Given the description of an element on the screen output the (x, y) to click on. 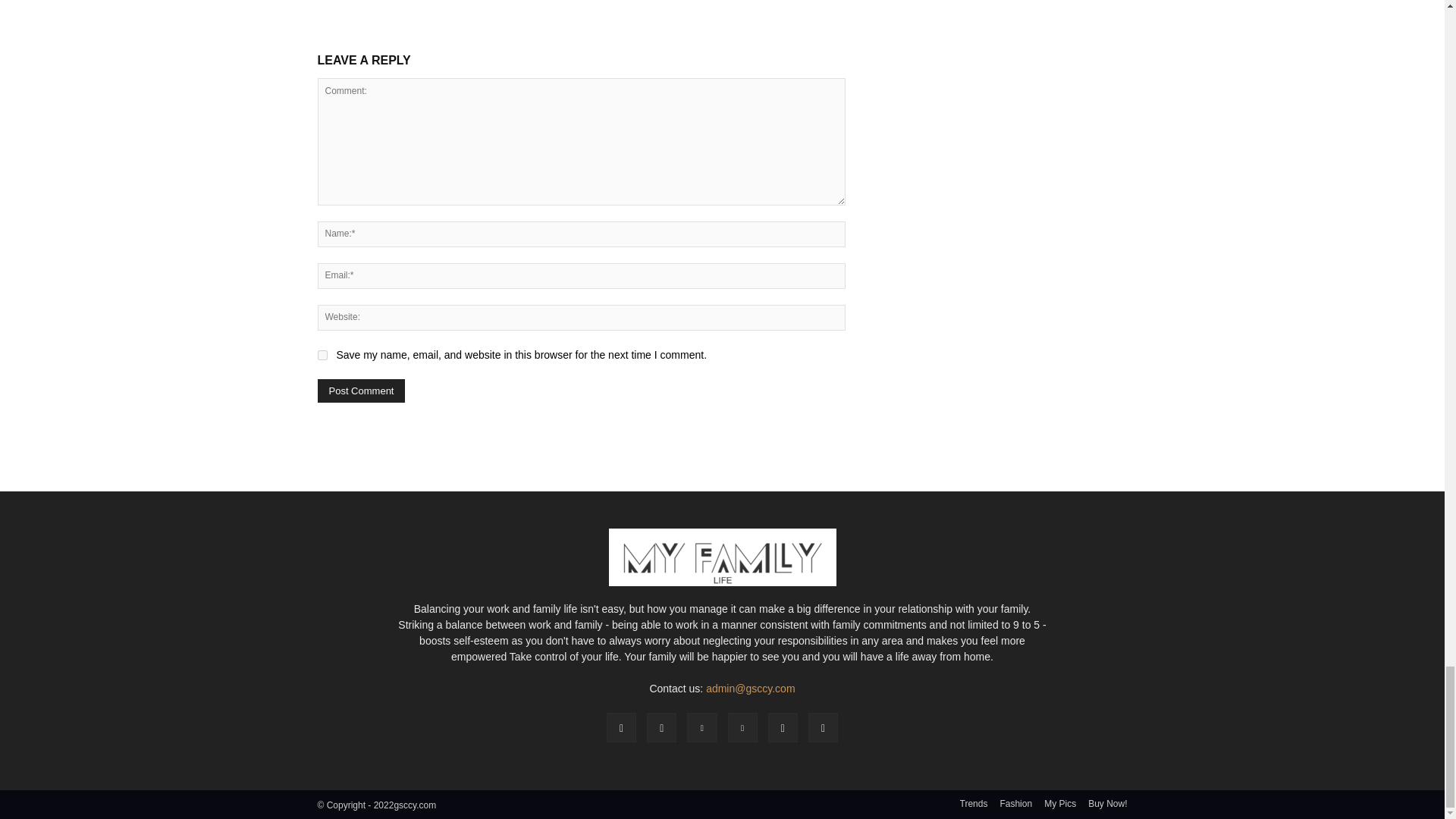
Post Comment (360, 390)
yes (321, 355)
